Given the description of an element on the screen output the (x, y) to click on. 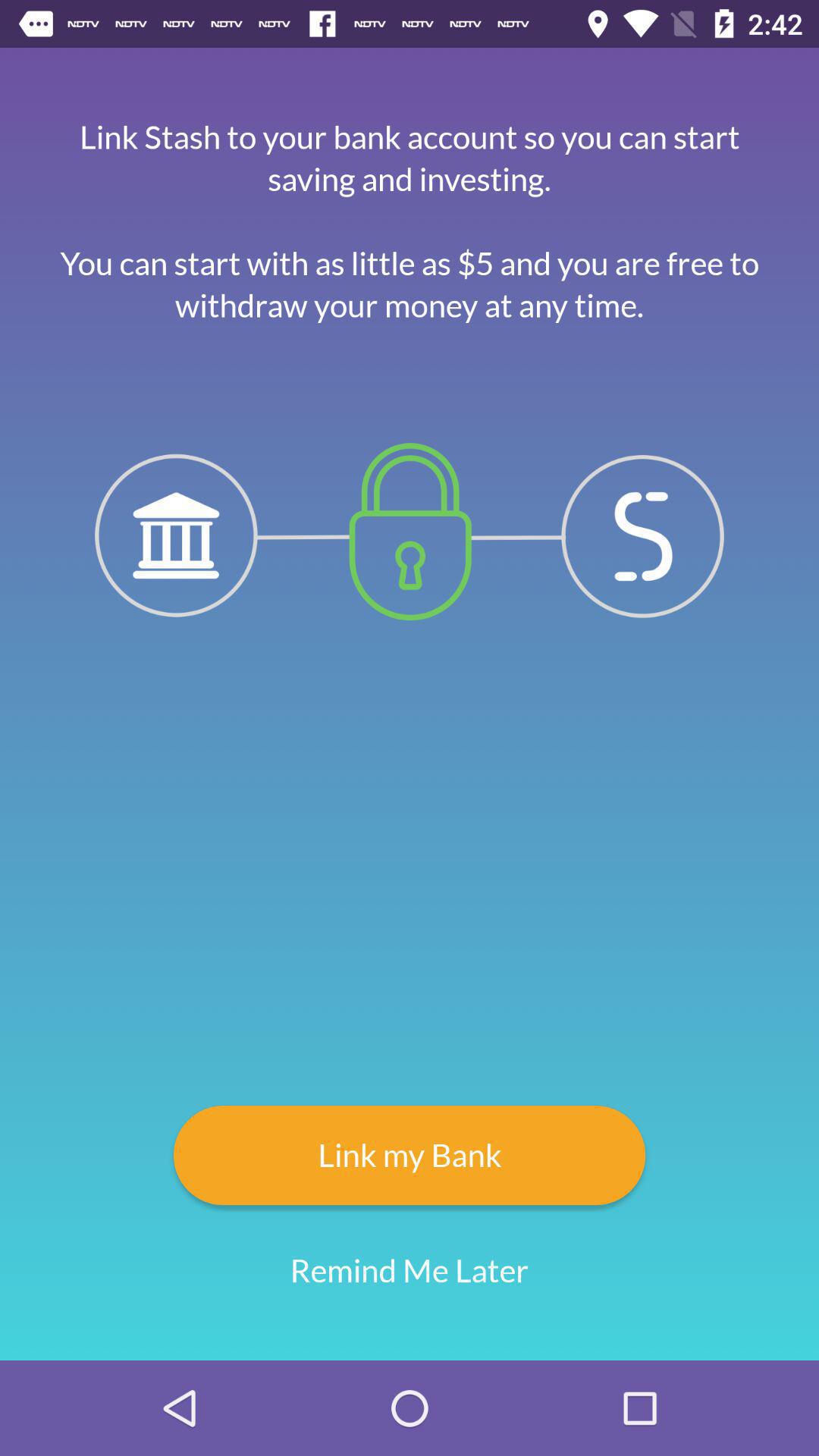
choose remind me later icon (409, 1270)
